Given the description of an element on the screen output the (x, y) to click on. 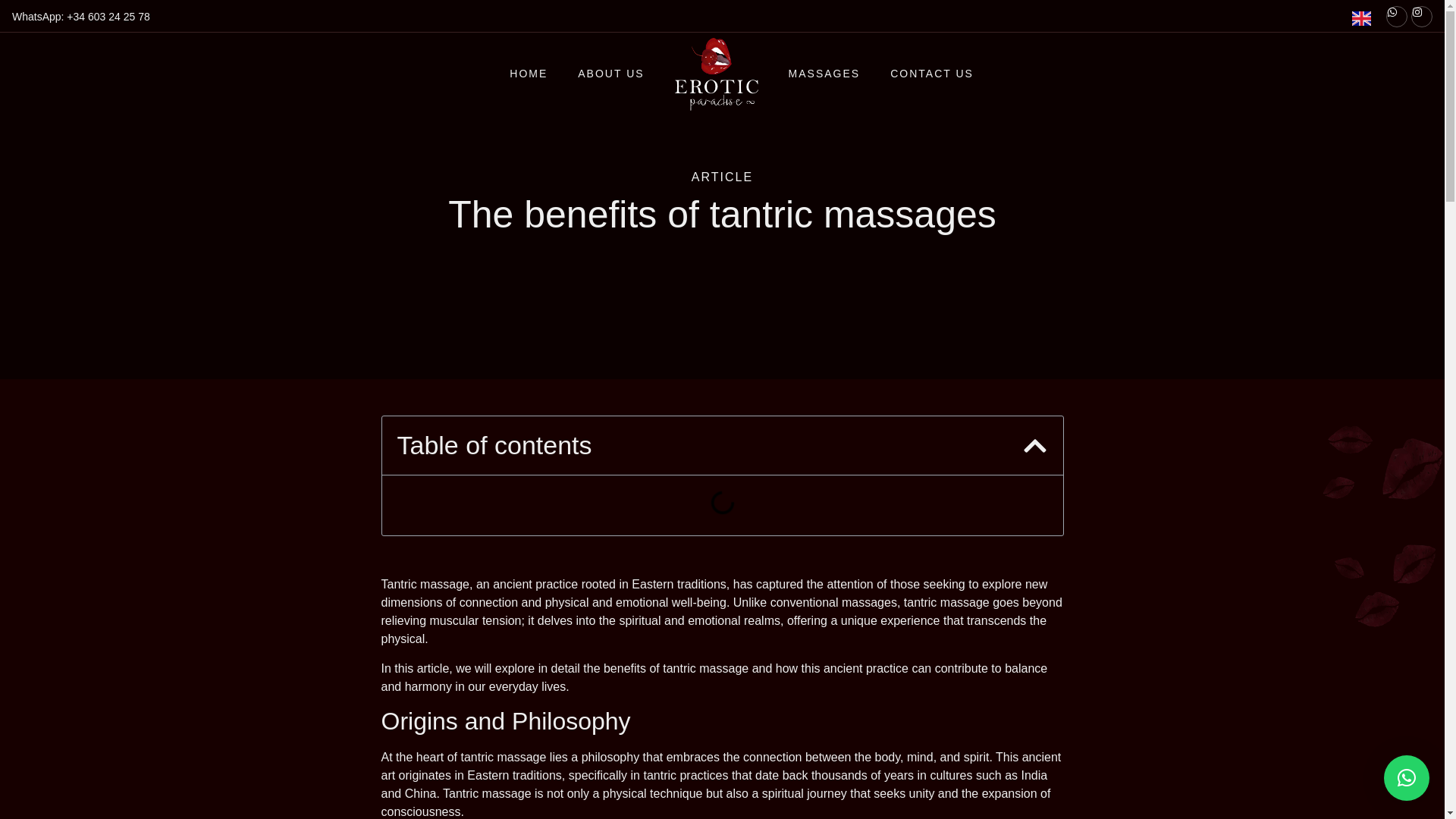
MASSAGES (824, 73)
HOME (528, 73)
CONTACT US (931, 73)
ABOUT US (610, 73)
